Given the description of an element on the screen output the (x, y) to click on. 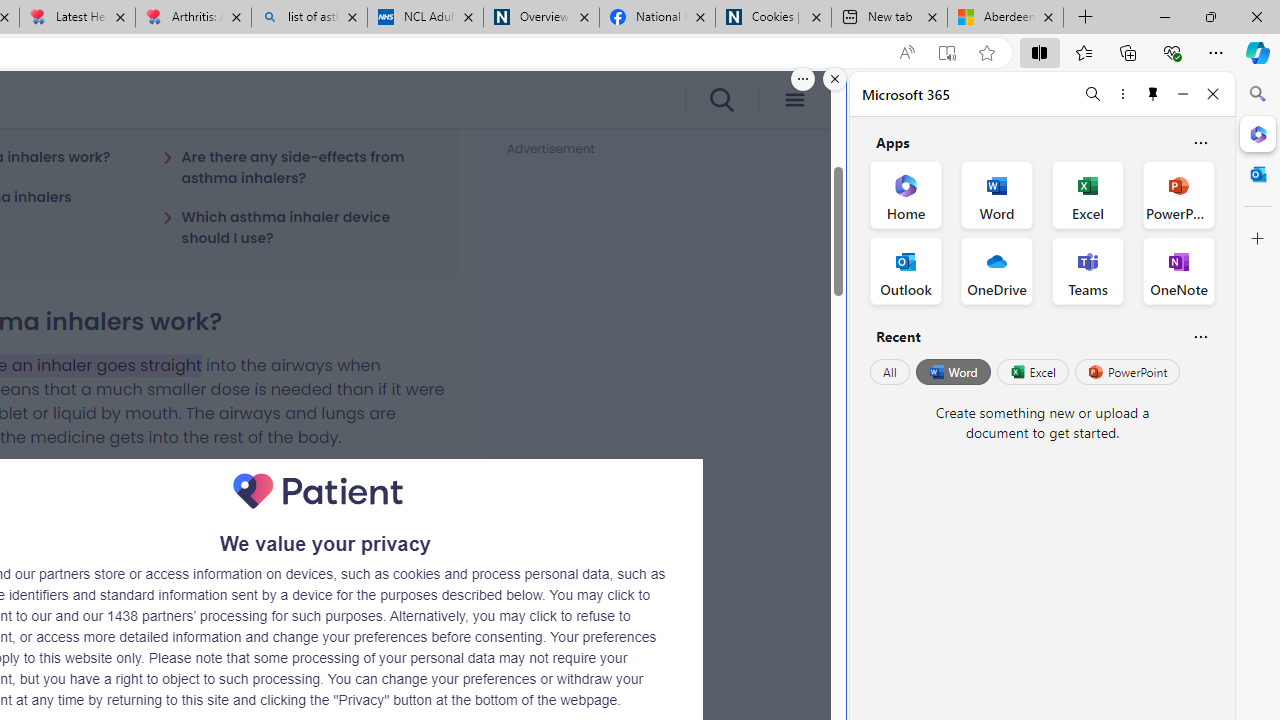
Microsoft 365 (1258, 133)
New tab (889, 17)
Unpin side pane (1153, 93)
